Given the description of an element on the screen output the (x, y) to click on. 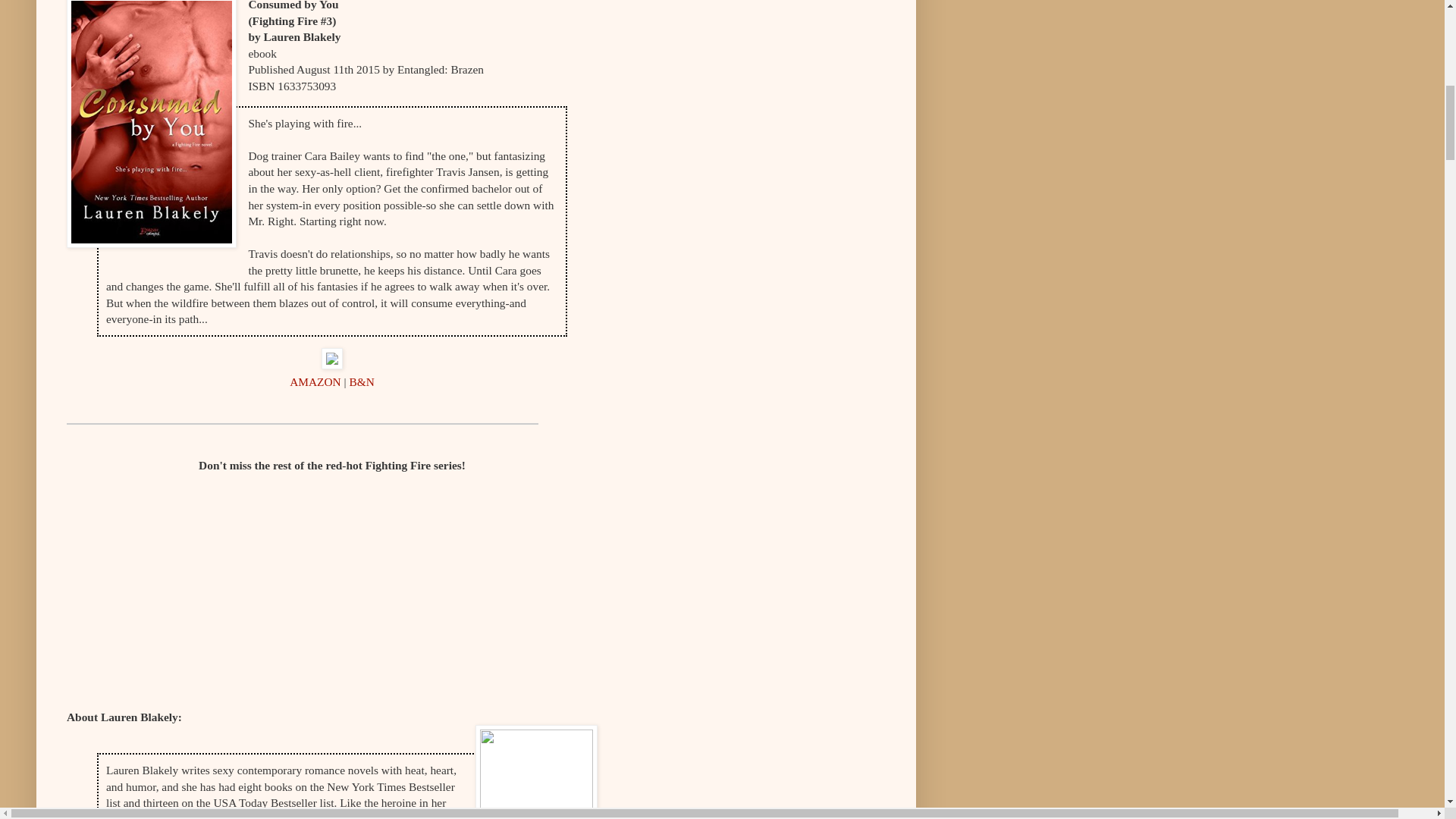
AMAZON (316, 381)
